Given the description of an element on the screen output the (x, y) to click on. 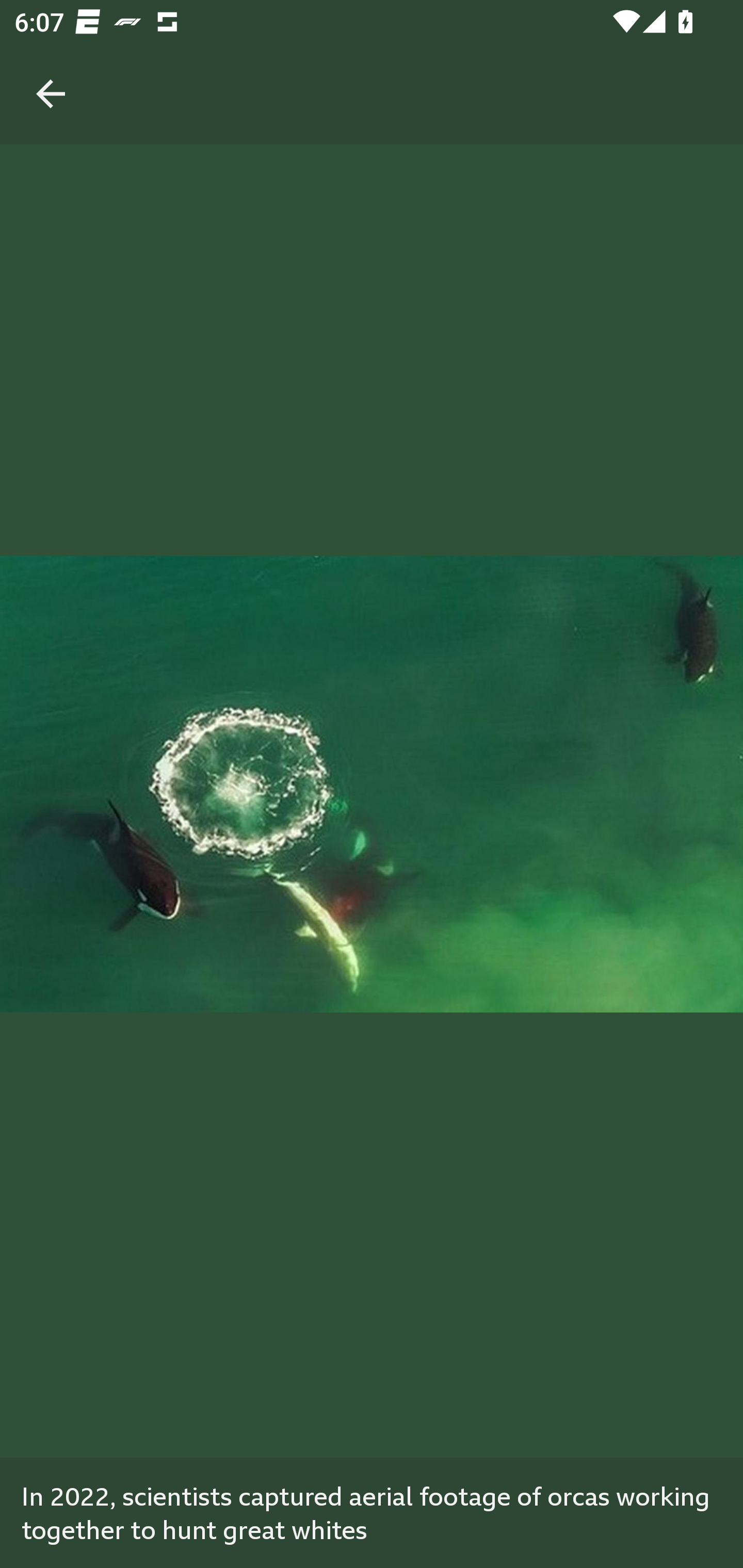
Back (50, 72)
